Given the description of an element on the screen output the (x, y) to click on. 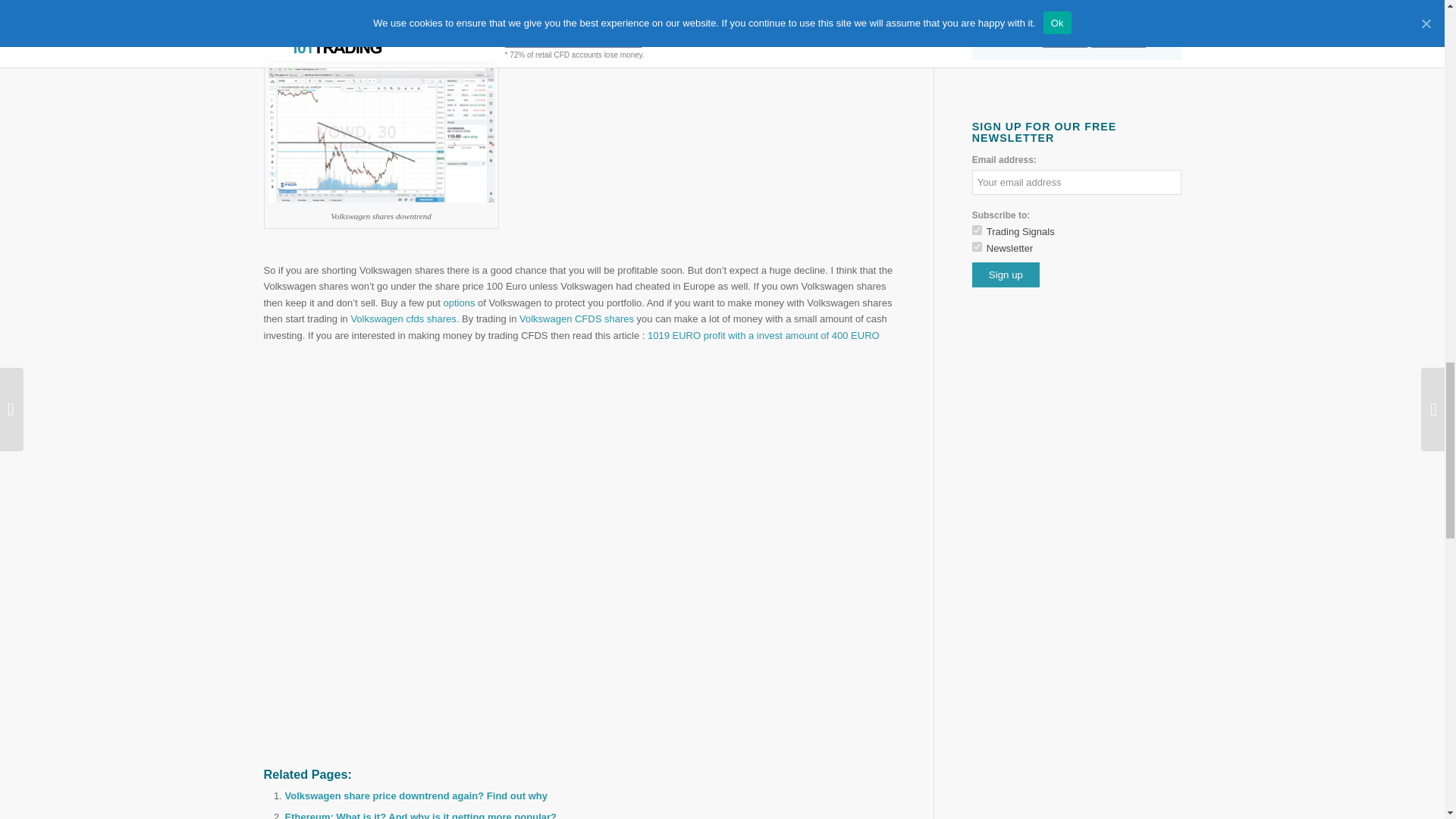
Newsletter (976, 246)
Trading Signals (976, 230)
Sign up (1005, 274)
Ethereum: What is it? And why is it getting more popular? (420, 815)
Volkswagen share price downtrend again? Find out why (416, 795)
